Given the description of an element on the screen output the (x, y) to click on. 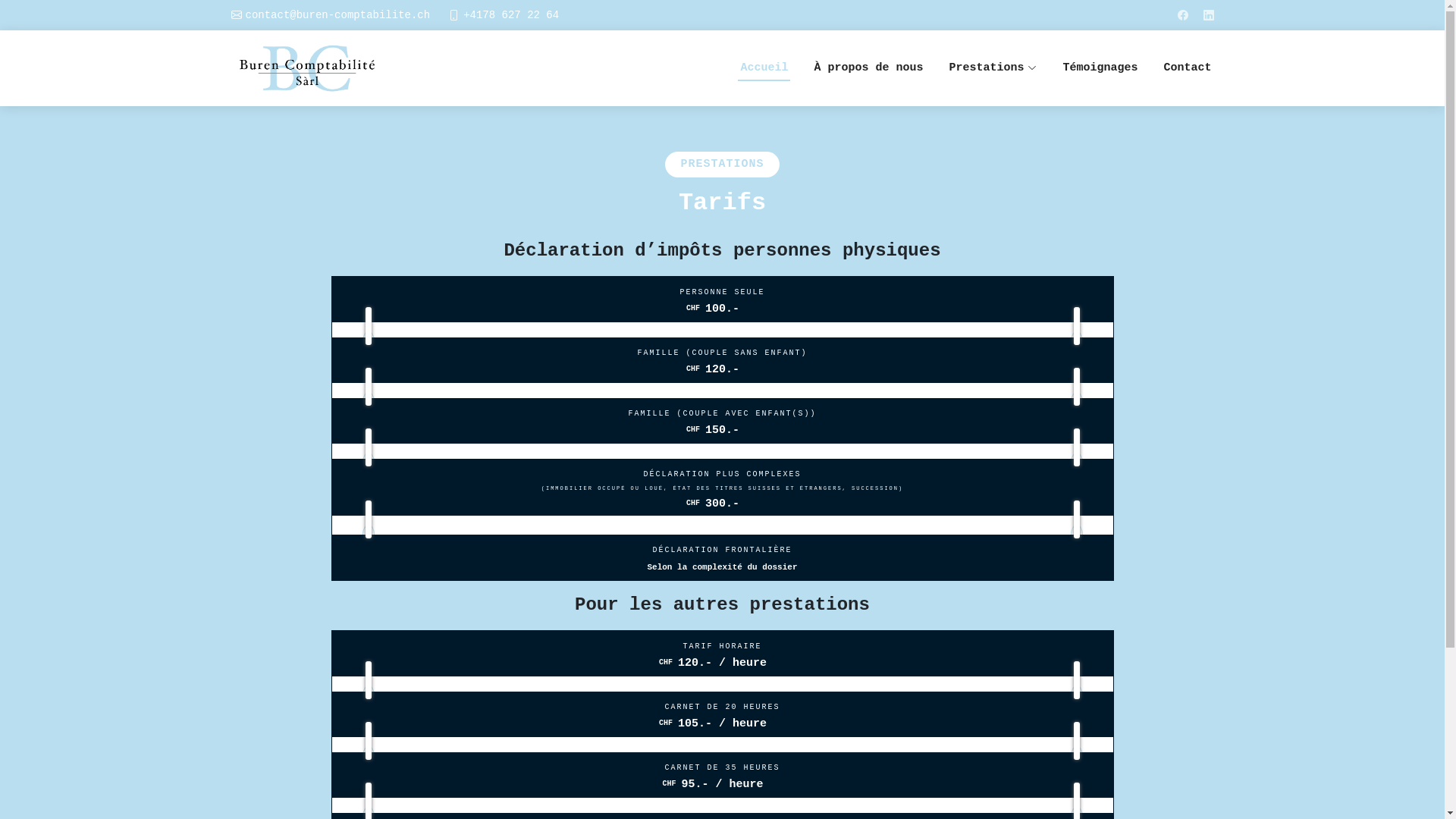
Accueil Element type: text (763, 68)
Prestations Element type: text (992, 68)
Contact Element type: text (1187, 68)
